Given the description of an element on the screen output the (x, y) to click on. 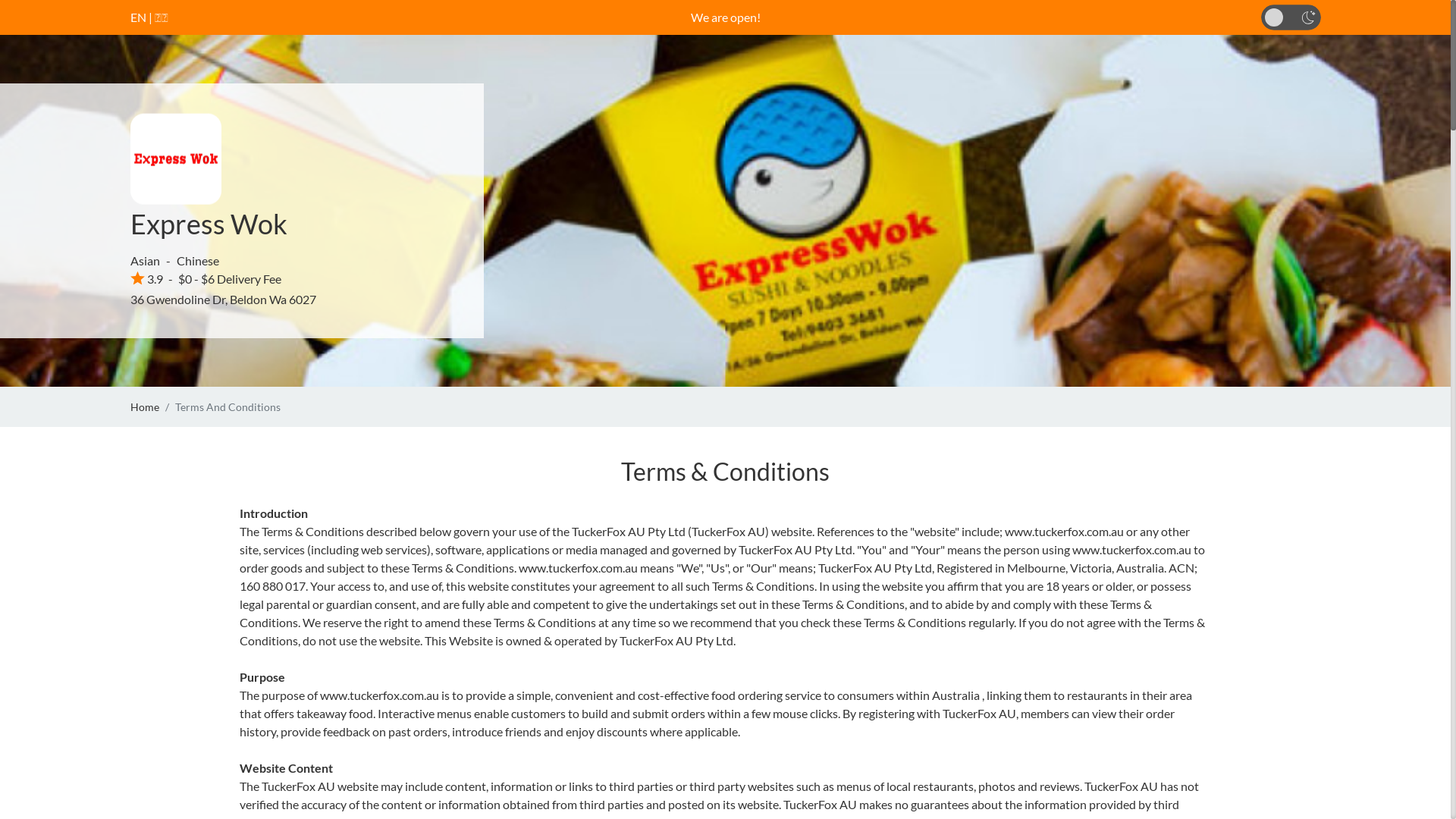
3.9 Element type: text (146, 278)
Home Element type: text (144, 406)
Express Wok Element type: text (208, 223)
EN Element type: text (138, 16)
